Given the description of an element on the screen output the (x, y) to click on. 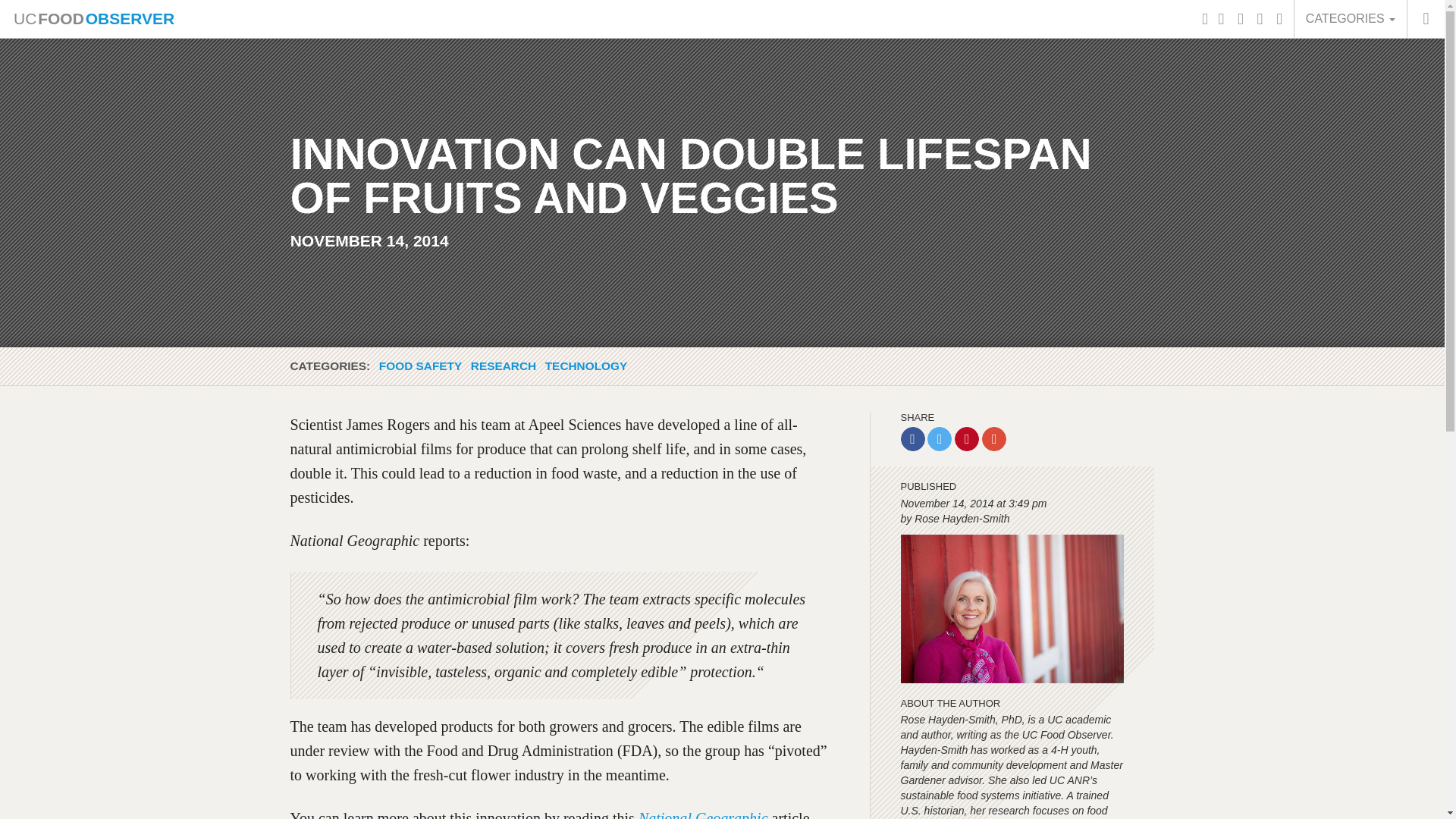
View all posts in Food Safety (419, 365)
View all posts in Research (502, 365)
TECHNOLOGY (585, 365)
View all posts in Technology (585, 365)
RESEARCH (502, 365)
UC FOOD OBSERVER (93, 18)
CATEGORIES (1350, 18)
National Geographic edible food film (703, 814)
FOOD SAFETY (419, 365)
